Given the description of an element on the screen output the (x, y) to click on. 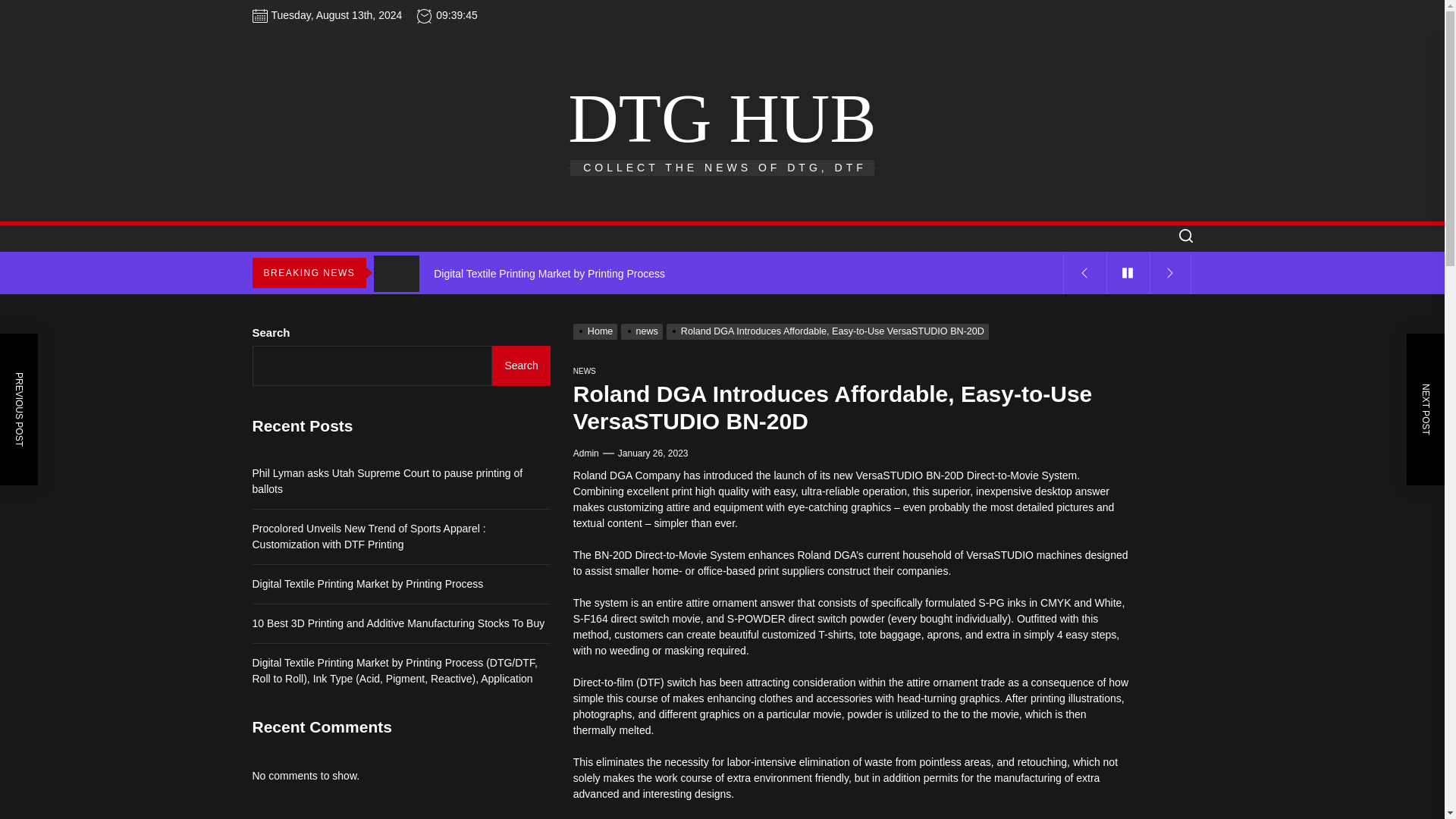
news (643, 330)
Home (597, 330)
January 26, 2023 (652, 453)
NEWS (584, 370)
Admin (585, 453)
Digital Textile Printing Market by Printing Process (718, 273)
DTG HUB (721, 117)
Digital Textile Printing Market by Printing Process (718, 273)
